Given the description of an element on the screen output the (x, y) to click on. 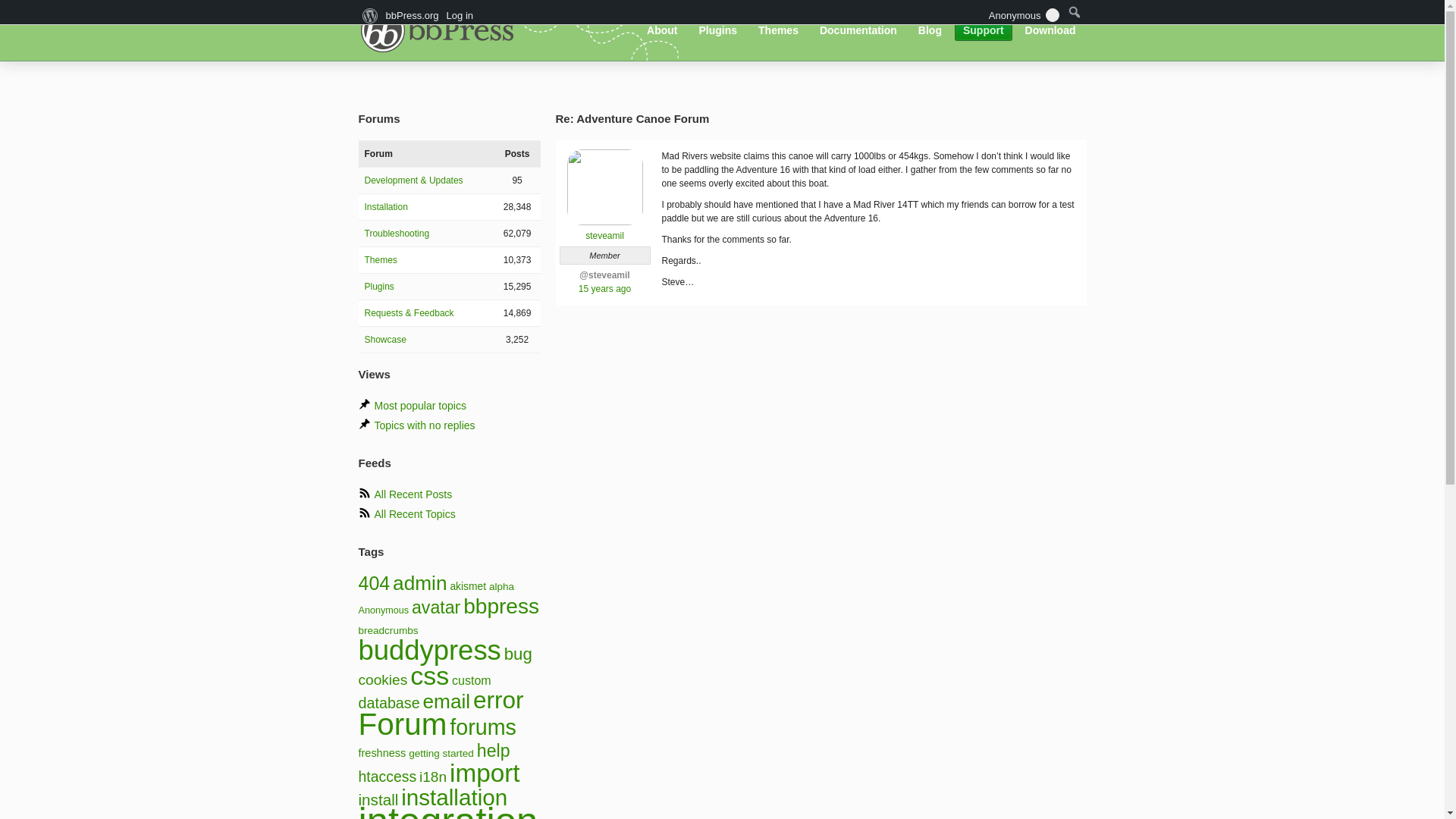
Plugins (717, 29)
cookies (382, 679)
About (662, 29)
Support (983, 29)
15 years ago (604, 288)
bbpress (500, 606)
css (429, 675)
bug (517, 653)
avatar (436, 607)
All Recent Topics (414, 513)
